Given the description of an element on the screen output the (x, y) to click on. 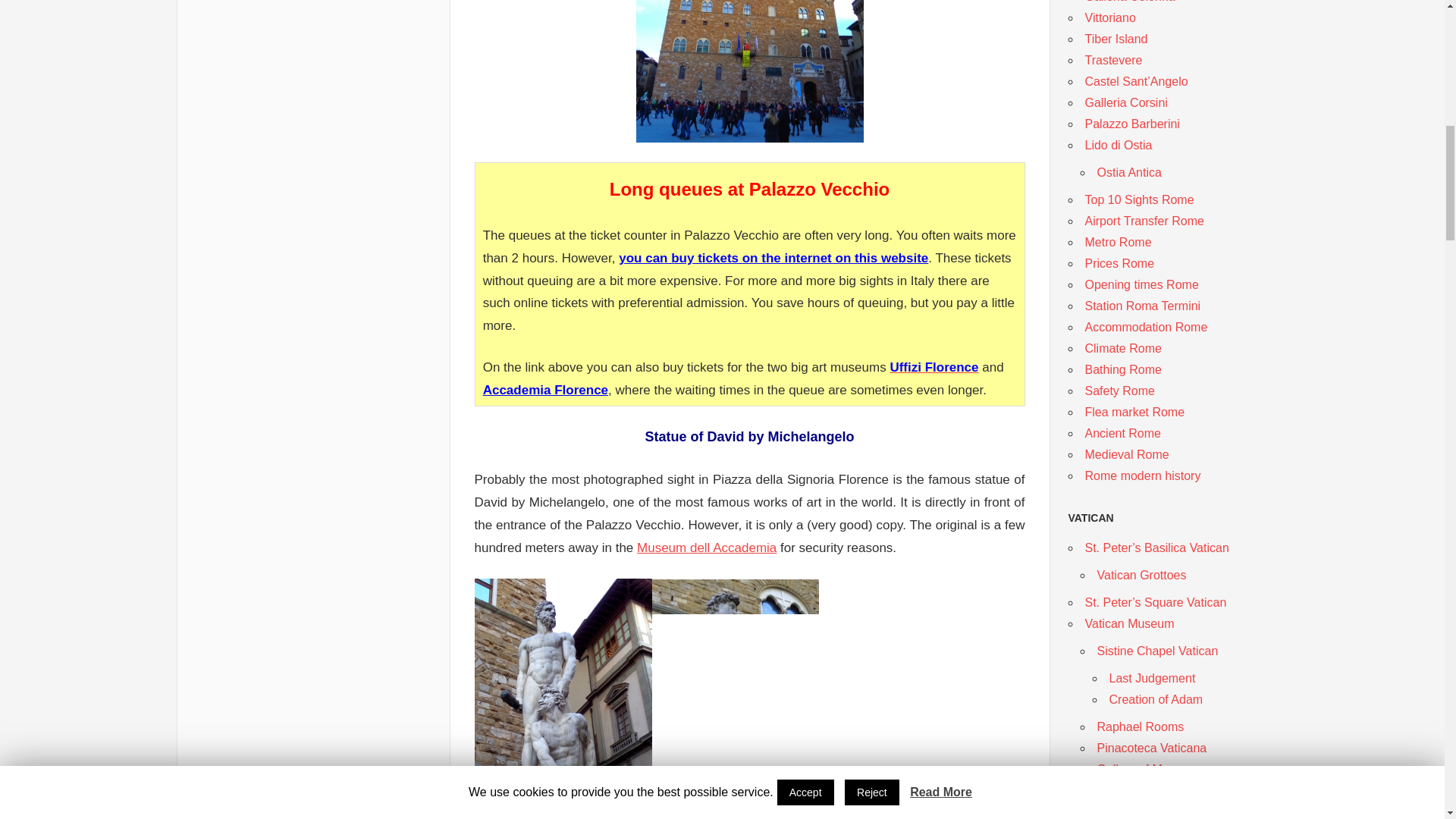
Museum dell Accademia (706, 547)
Uffizi Florence (933, 367)
you can buy tickets on the internet on this website (773, 257)
Accademia Florence (545, 390)
